Given the description of an element on the screen output the (x, y) to click on. 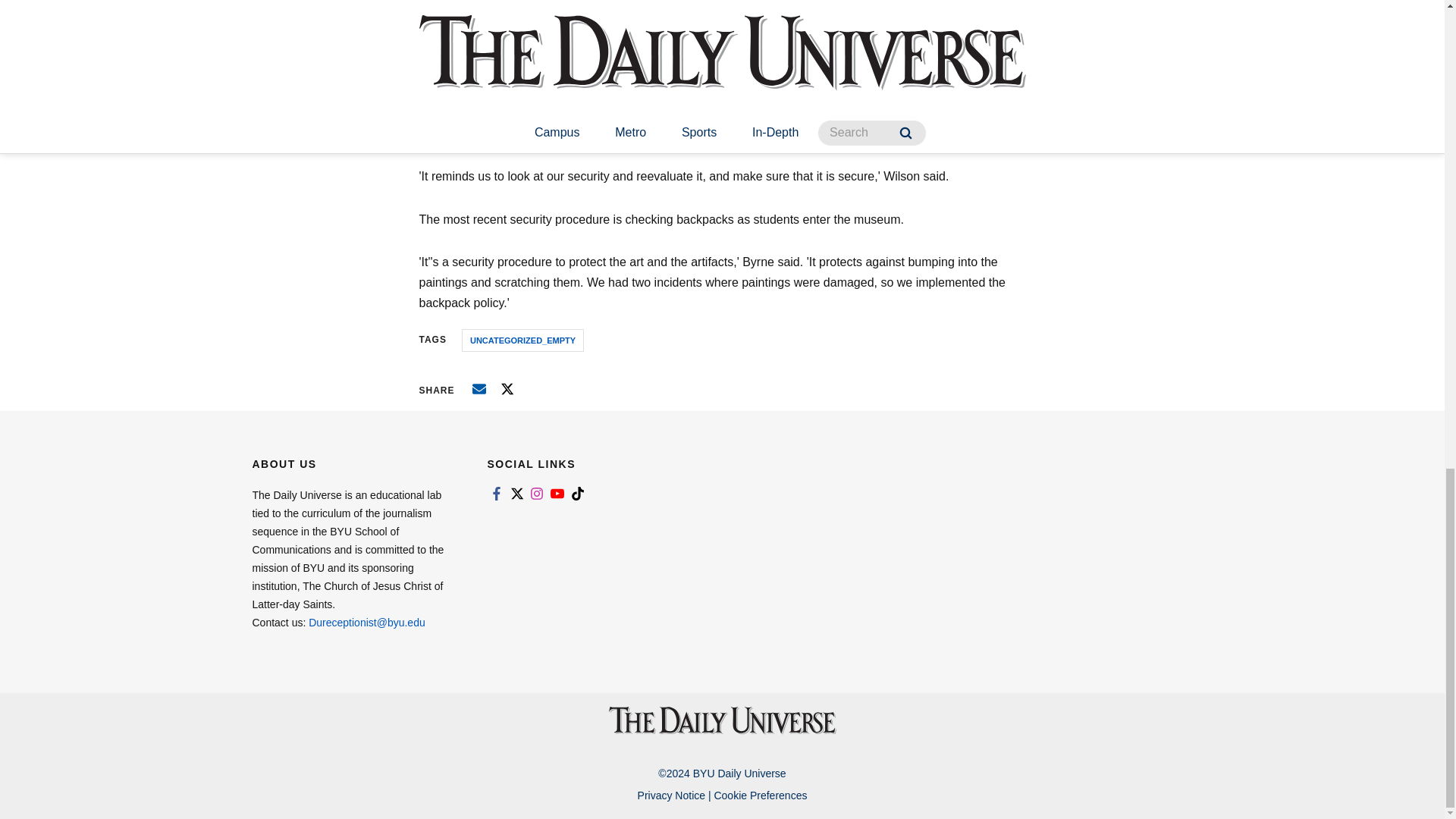
Link to youtube (557, 493)
Link to twitter (515, 493)
Email (478, 388)
Privacy Notice (670, 795)
Link to tiktok (577, 493)
Link to instagram (536, 493)
Link to facebook (495, 493)
Cookie Preferences (759, 795)
